Given the description of an element on the screen output the (x, y) to click on. 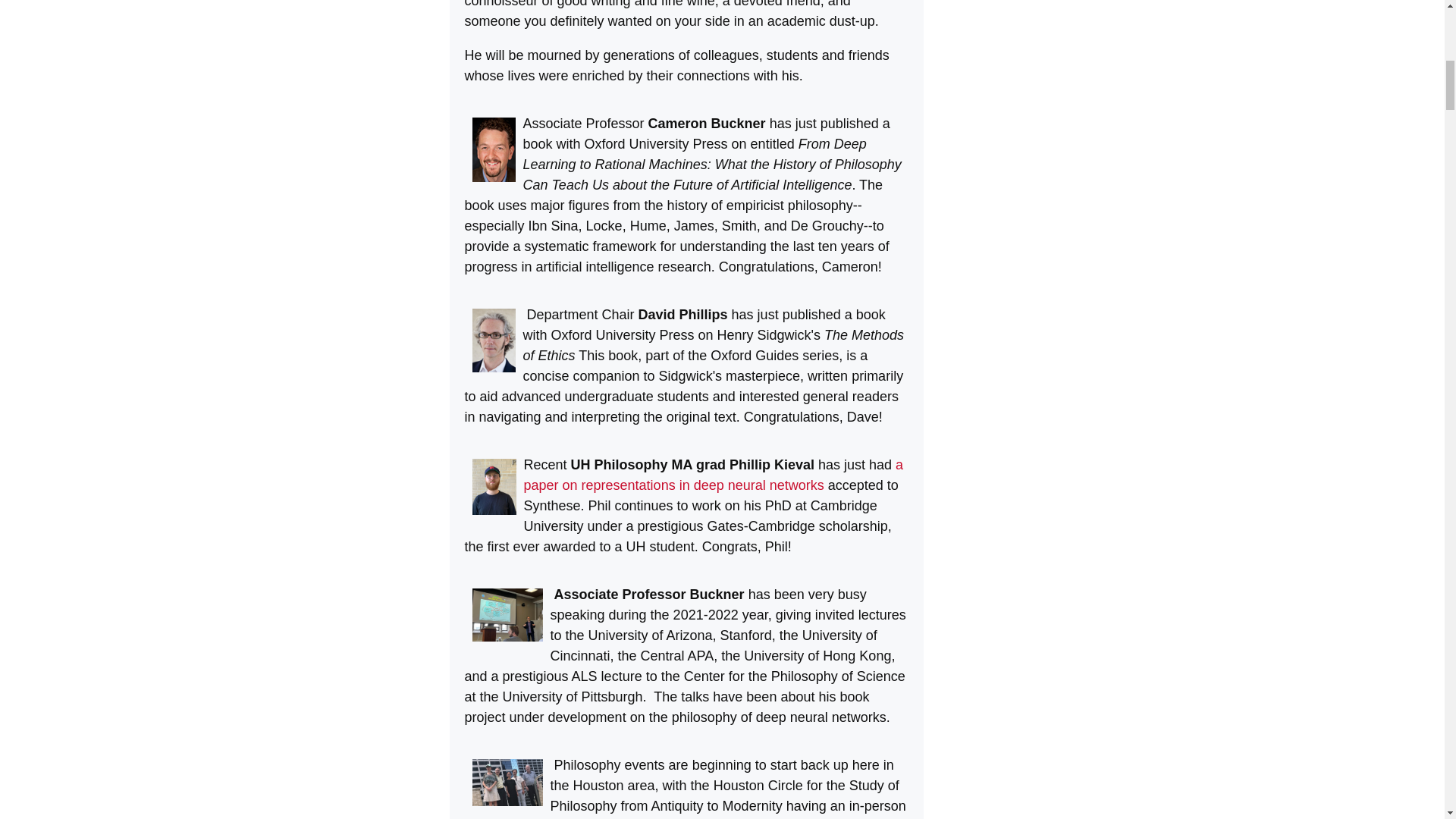
University of Houston (636, 546)
University of Houston (580, 464)
